Given the description of an element on the screen output the (x, y) to click on. 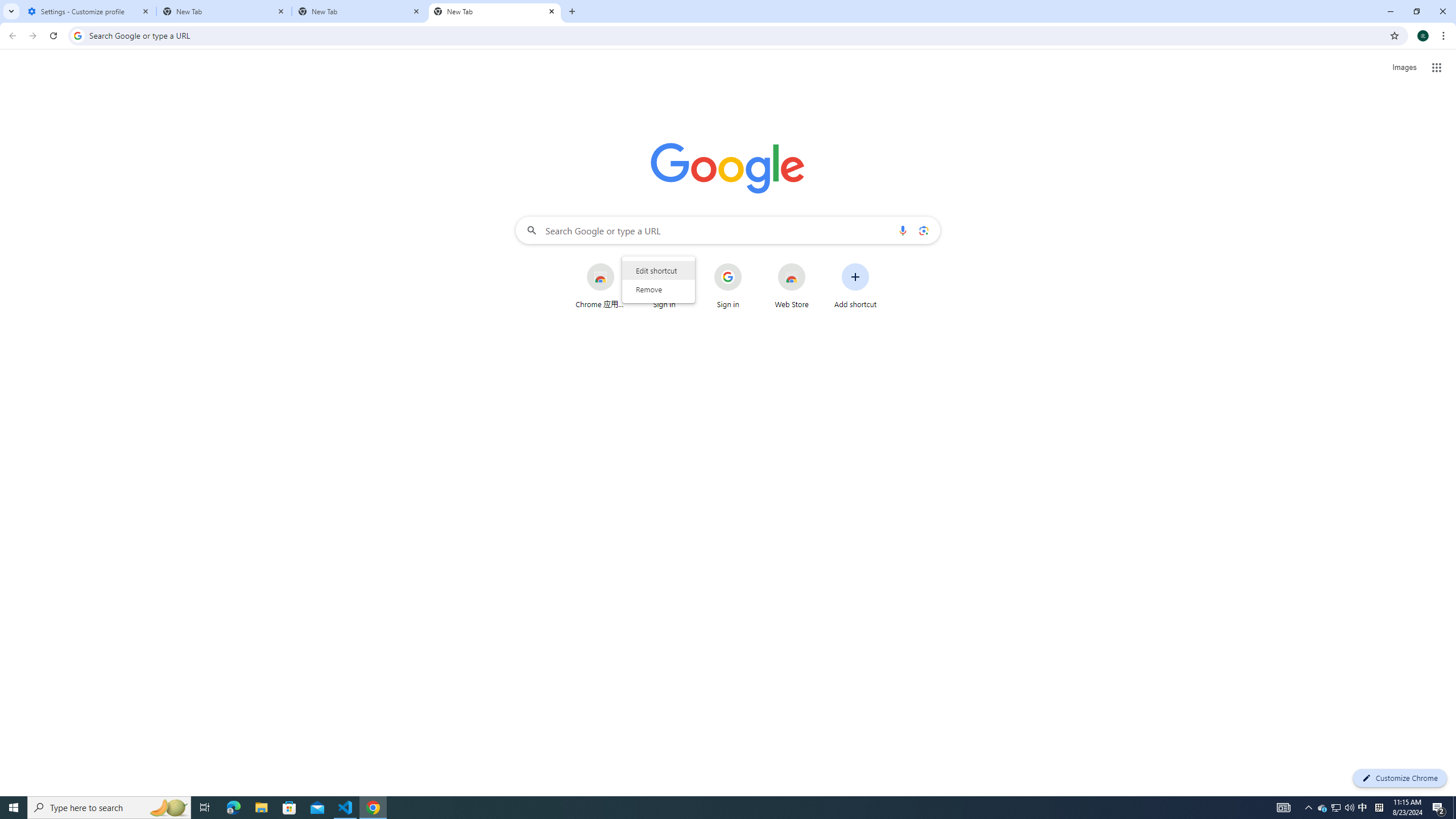
Remove (657, 289)
AutomationID: wrapper (657, 279)
Address and search bar (735, 35)
